Given the description of an element on the screen output the (x, y) to click on. 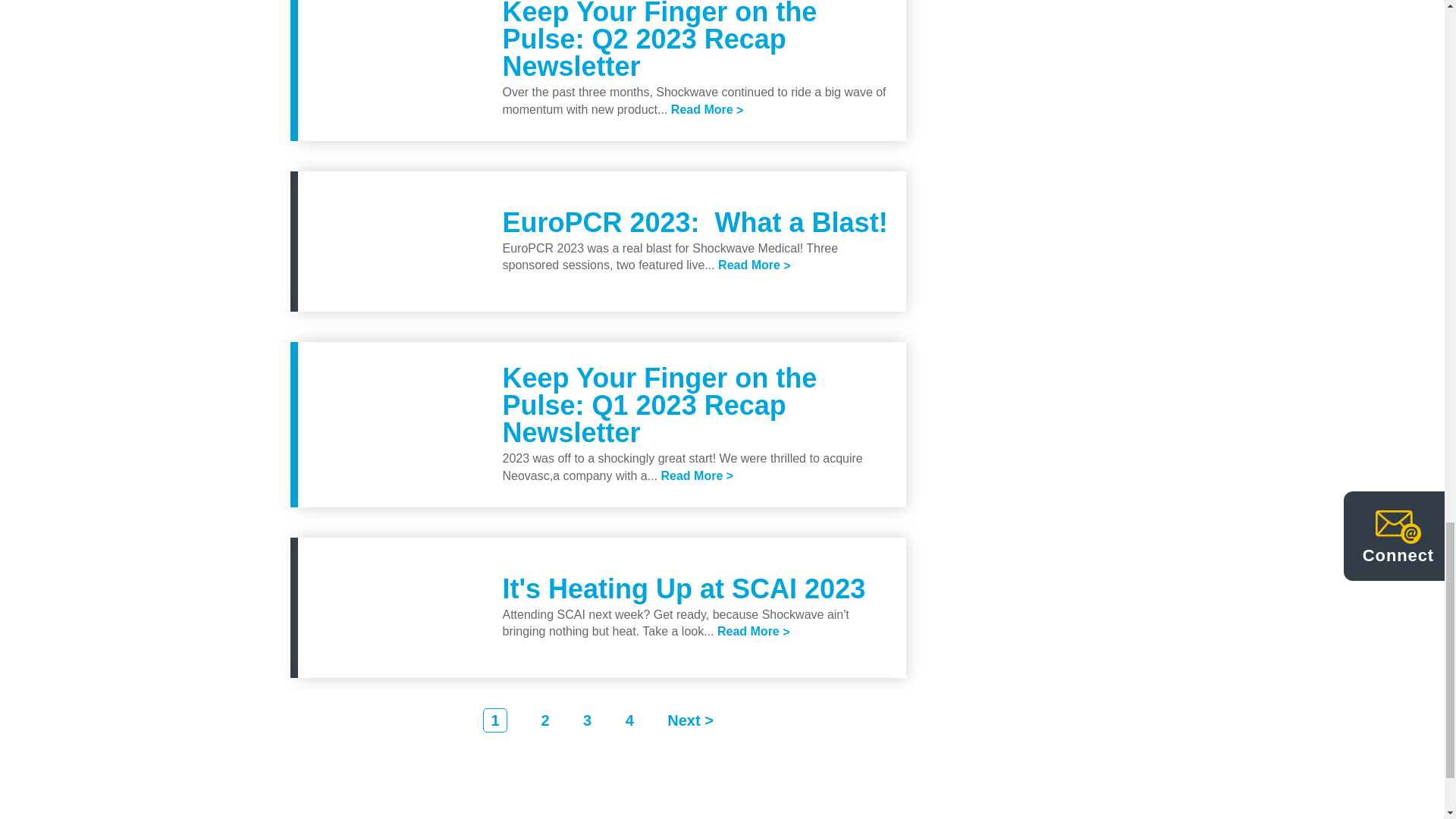
1 (494, 720)
